Given the description of an element on the screen output the (x, y) to click on. 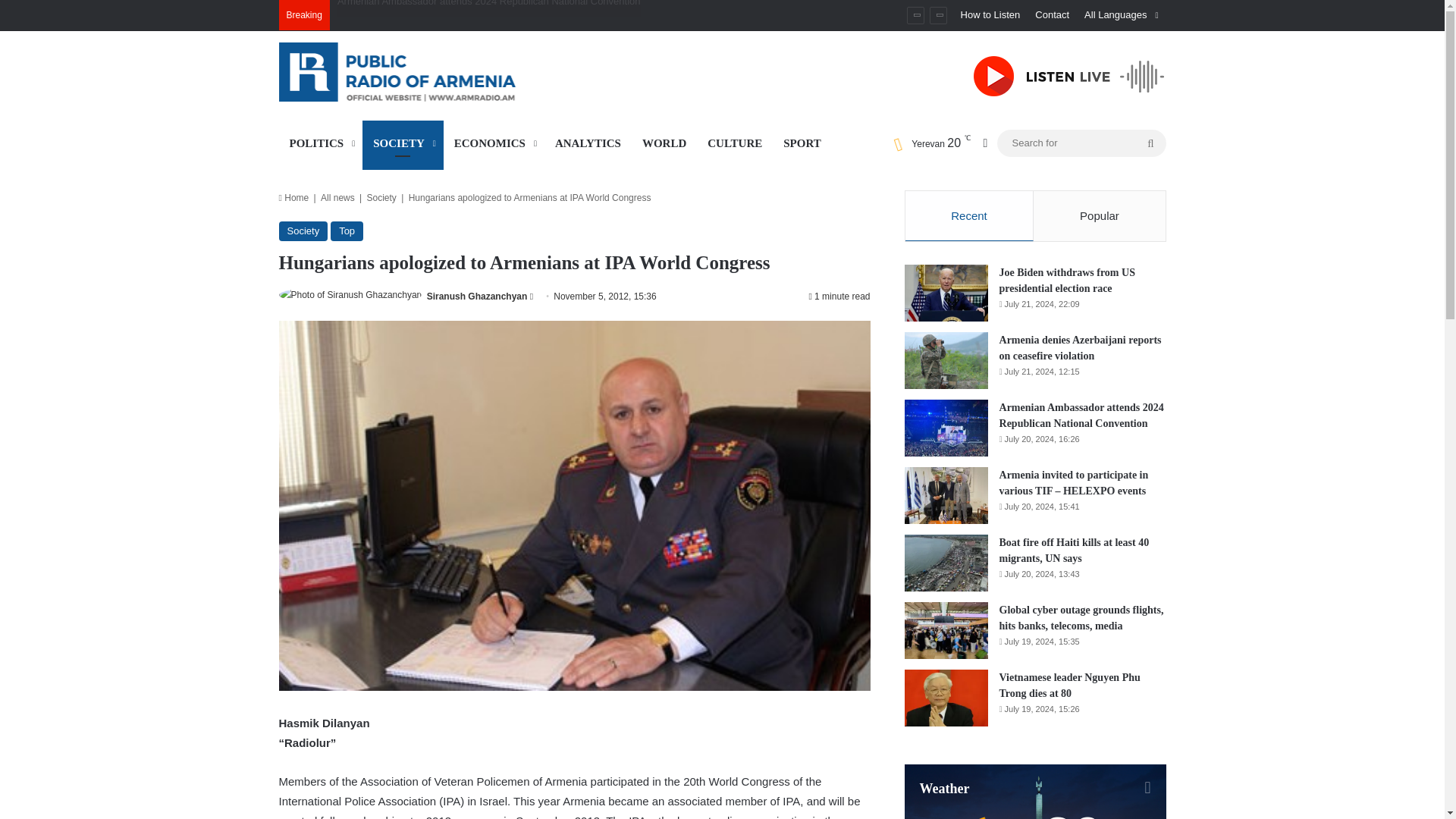
ANALYTICS (587, 143)
How to Listen (990, 15)
Search for (1150, 143)
Society (304, 230)
Siranush Ghazanchyan (476, 296)
Society (381, 197)
Public Radio of Armenia (419, 71)
ECONOMICS (494, 143)
WORLD (664, 143)
Top (346, 230)
CULTURE (735, 143)
SPORT (802, 143)
Clear Sky (926, 142)
Home (293, 197)
